Given the description of an element on the screen output the (x, y) to click on. 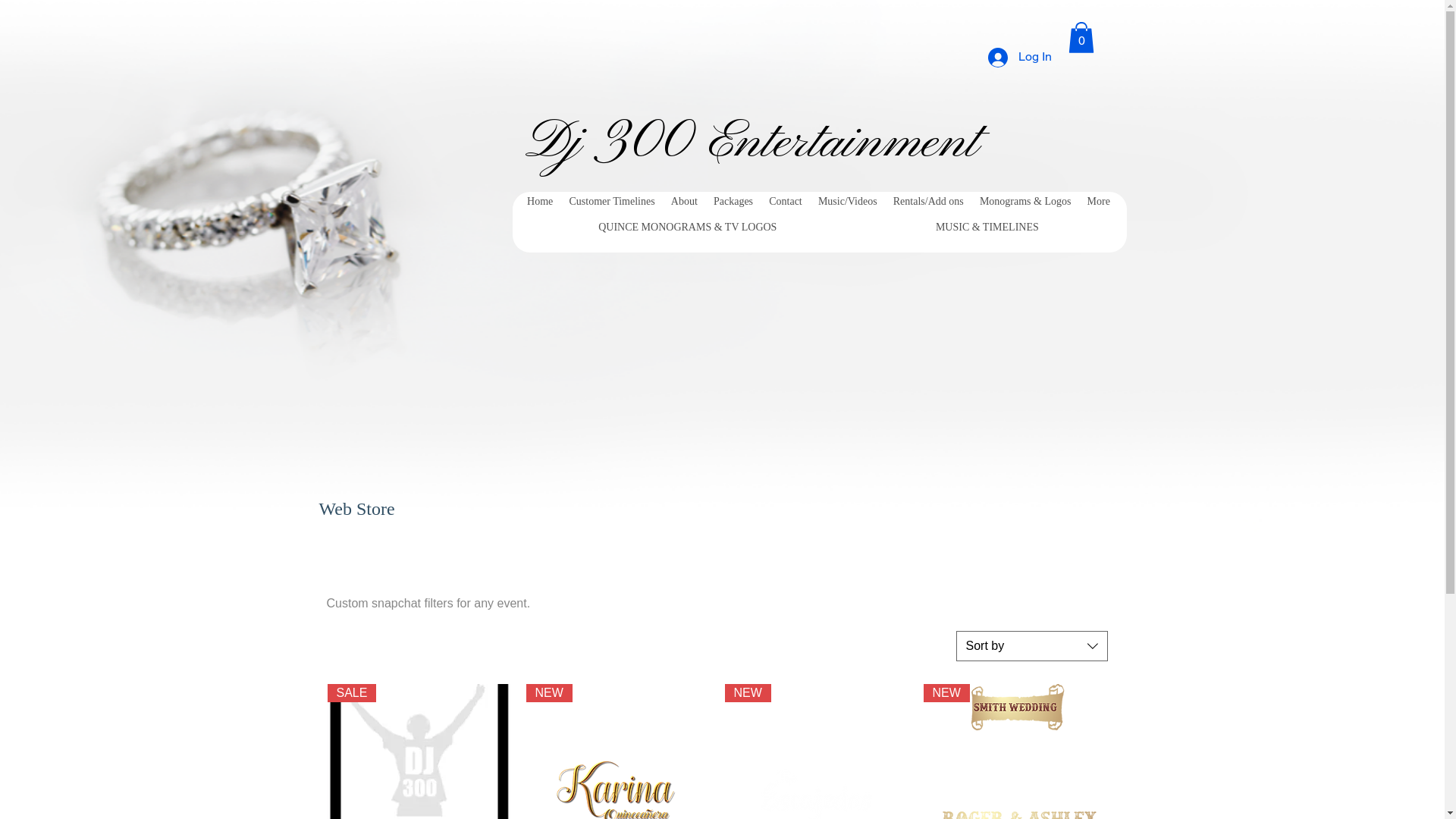
Customer Timelines Element type: text (611, 201)
QUINCE MONOGRAMS & TV LOGOS Element type: text (687, 227)
Log In Element type: text (1018, 57)
Rentals/Add ons Element type: text (927, 201)
Home Element type: text (539, 201)
Contact Element type: text (785, 201)
Sort by Element type: text (1031, 645)
MUSIC & TIMELINES Element type: text (986, 227)
More Element type: text (1098, 201)
0 Element type: text (1080, 37)
Monograms & Logos Element type: text (1025, 201)
About Element type: text (683, 201)
Music/Videos Element type: text (846, 201)
Packages Element type: text (732, 201)
